Given the description of an element on the screen output the (x, y) to click on. 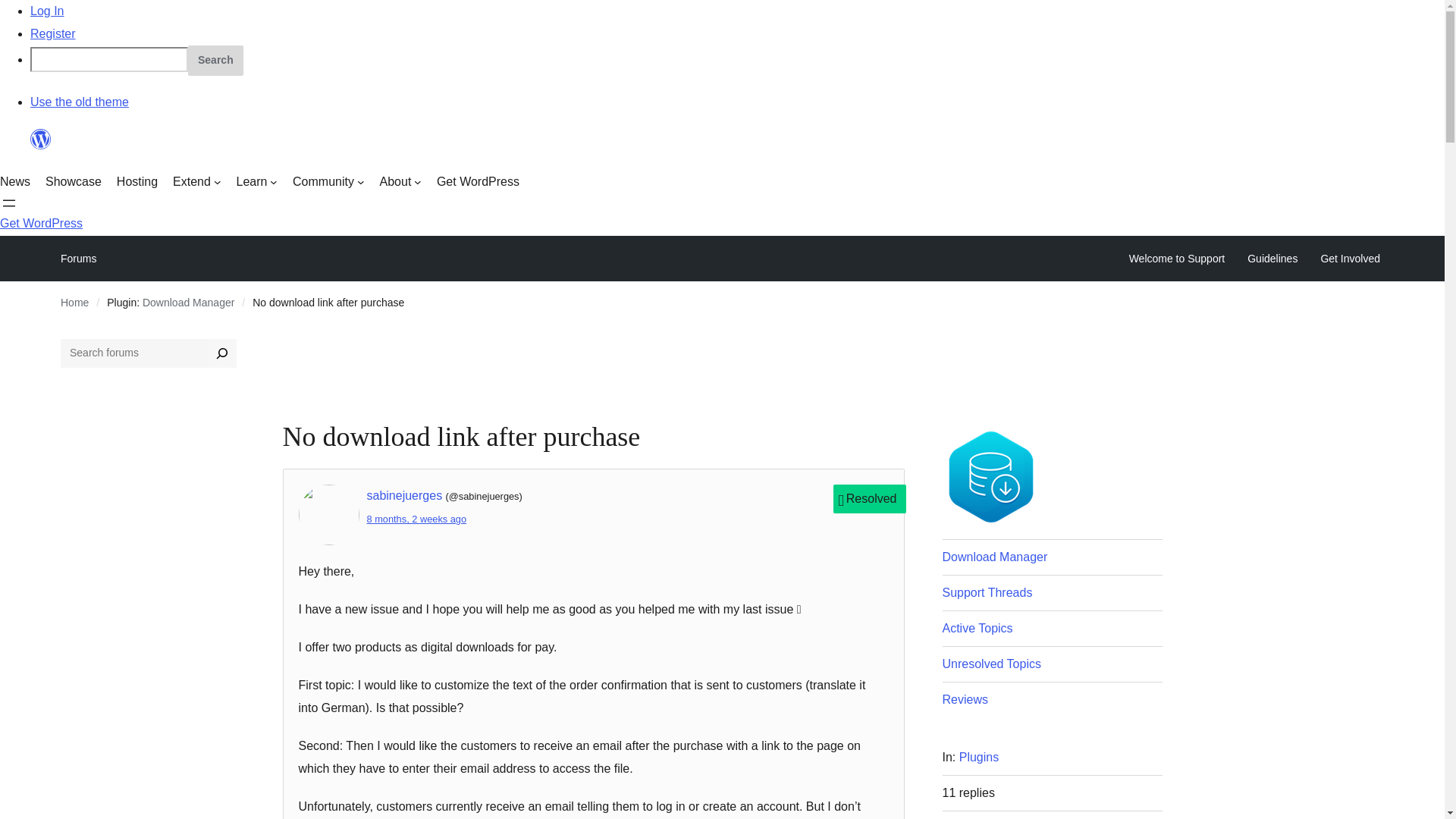
Log In (47, 10)
November 6, 2023 at 4:34 pm (416, 518)
About (401, 181)
Forums (78, 258)
Hosting (136, 181)
View sabinejuerges's profile (404, 495)
Register (52, 33)
Use the old theme (79, 101)
WordPress.org (40, 145)
Extend (197, 181)
Search (215, 60)
Get WordPress (477, 181)
Learn (256, 181)
Search (215, 60)
Community (328, 181)
